Given the description of an element on the screen output the (x, y) to click on. 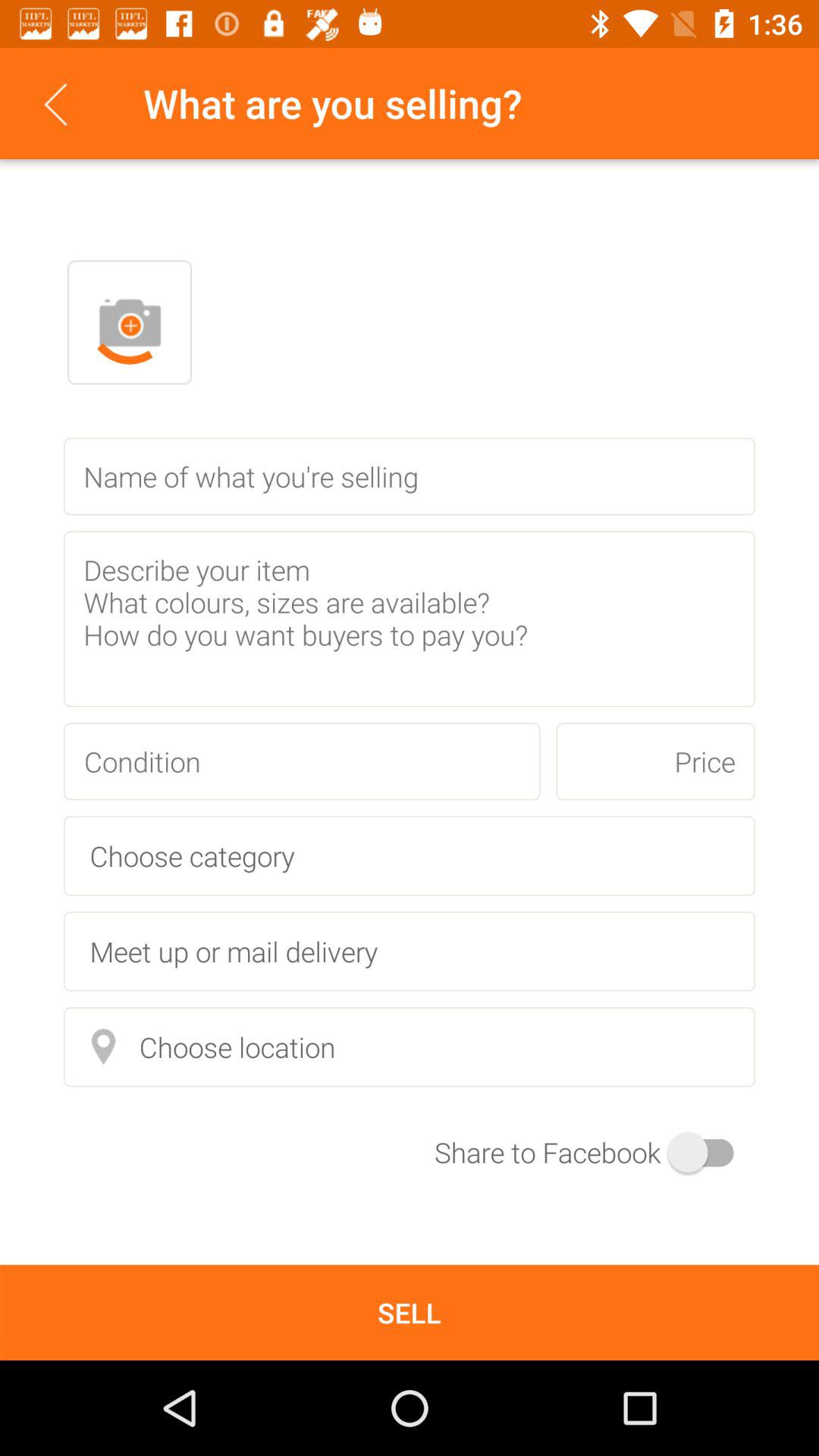
press meet up or (409, 951)
